Given the description of an element on the screen output the (x, y) to click on. 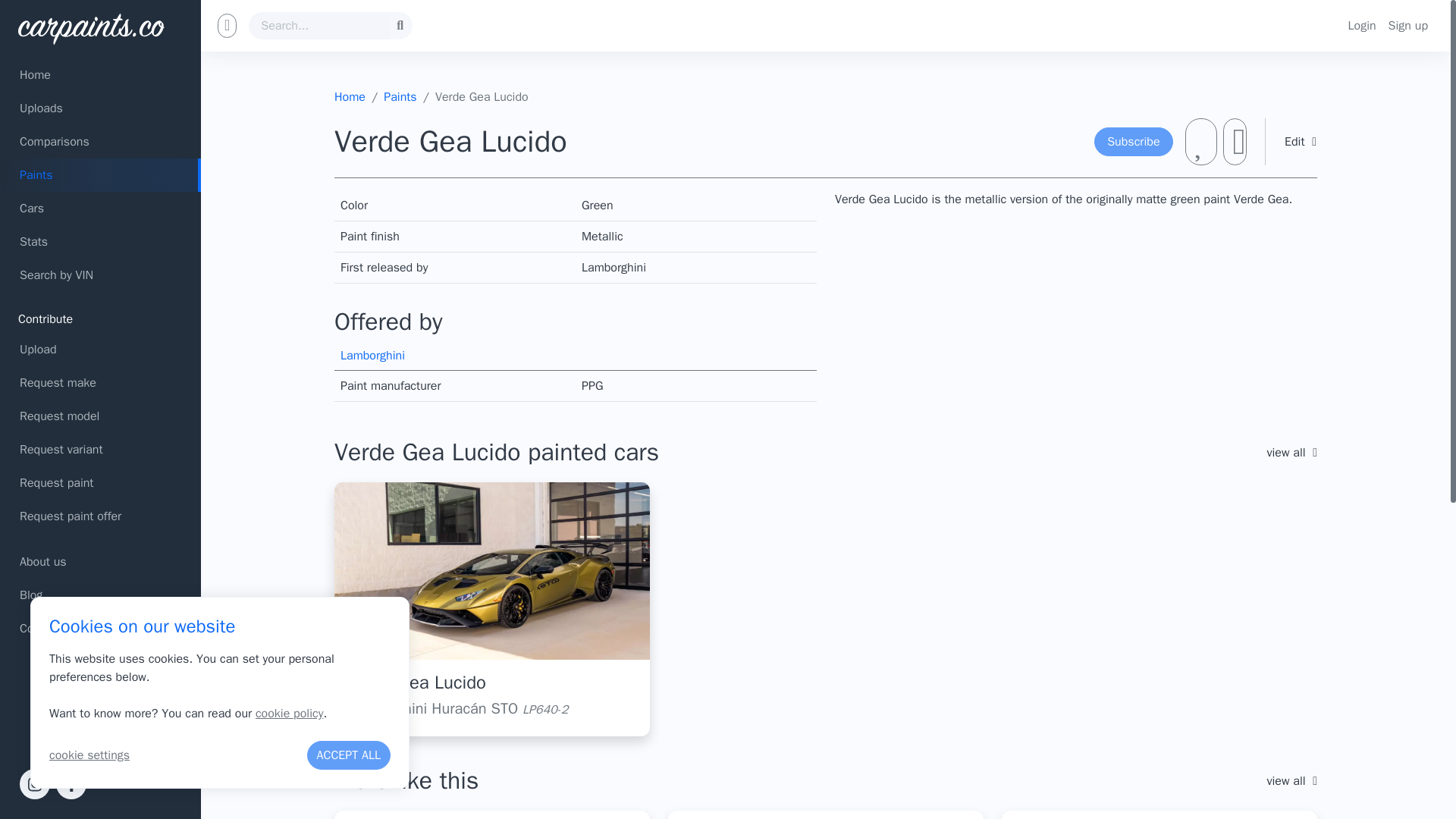
cookie policy (289, 713)
Edit  (1300, 141)
Instagram (34, 784)
Paints (100, 174)
cookie settings (89, 755)
Facebook (70, 784)
Home (100, 74)
Paints (400, 96)
Request paint offer (100, 516)
Request variant (100, 449)
Sidebar (225, 25)
About us (100, 561)
Request paint (100, 482)
Request paint (100, 482)
Upload (100, 349)
